Given the description of an element on the screen output the (x, y) to click on. 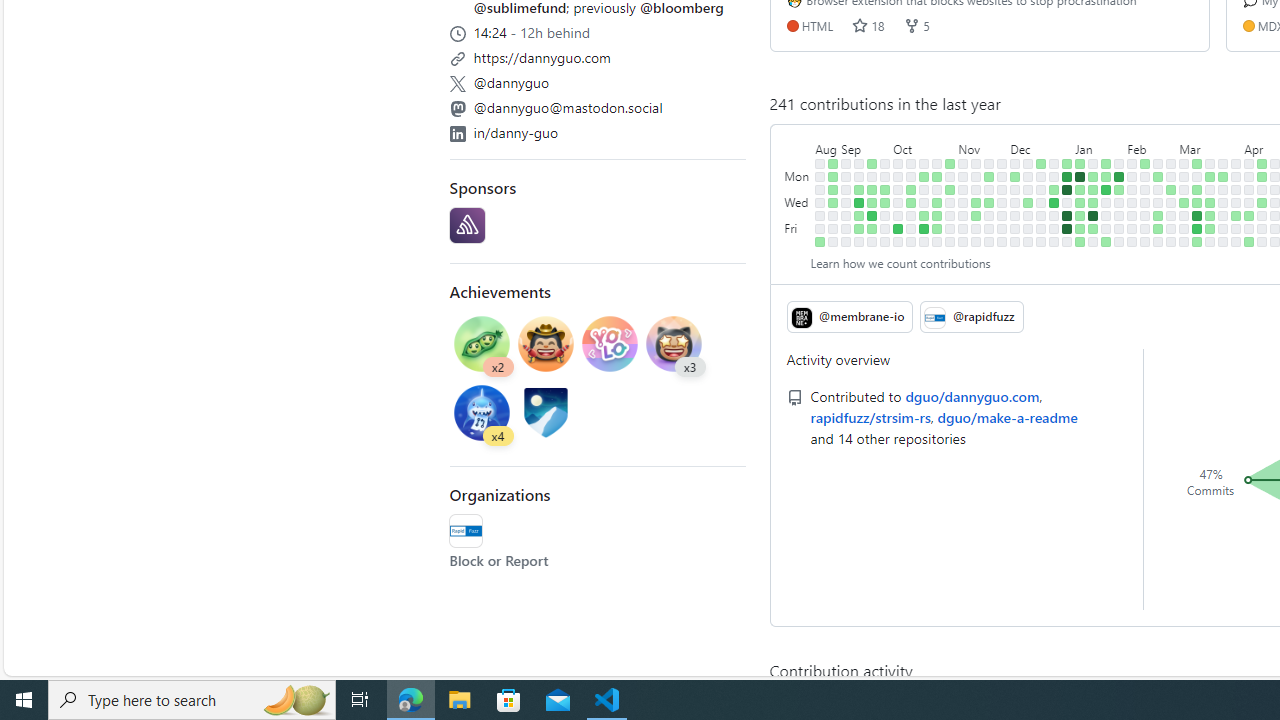
No contributions on October 15th. (924, 163)
No contributions on February 15th. (1145, 215)
No contributions on March 5th. (1184, 189)
@getsentry (467, 225)
2 contributions on October 10th. (911, 189)
Achievements (499, 290)
No contributions on September 23rd. (872, 241)
No contributions on December 16th. (1028, 241)
stars (860, 25)
1 contribution on September 12th. (859, 189)
1 contribution on November 20th. (989, 176)
2 contributions on February 11th. (1145, 163)
Achievement: Quickdraw (545, 343)
4 contributions on December 27th. (1054, 202)
3 contributions on March 6th. (1184, 202)
